Given the description of an element on the screen output the (x, y) to click on. 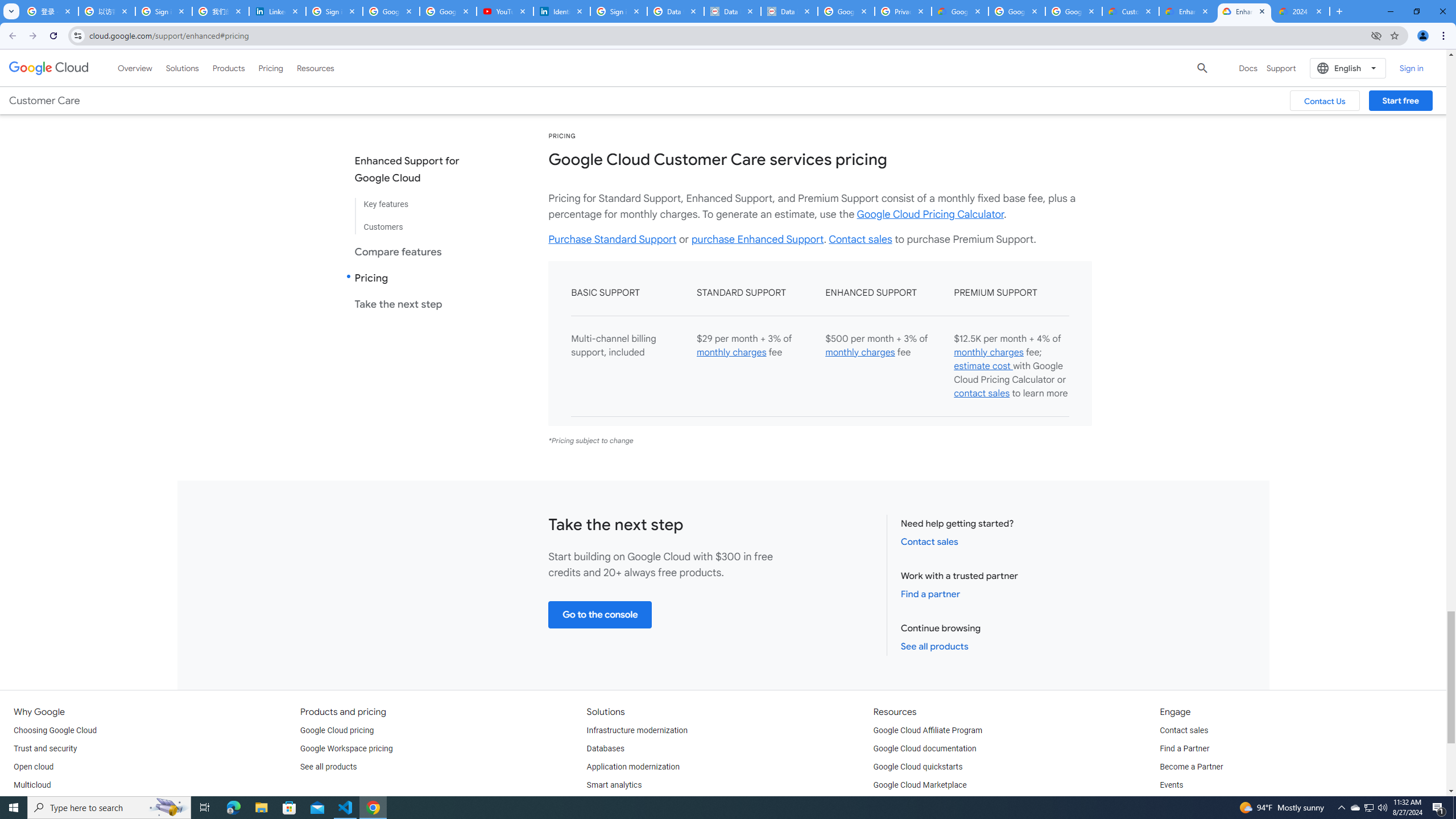
Back (10, 35)
Become a Partner (1190, 766)
Pricing (270, 67)
Find a Partner (1183, 748)
Take the next step (416, 303)
LinkedIn Privacy Policy (277, 11)
New Tab (1338, 11)
You (1422, 35)
Podcasts (1175, 802)
Google Cloud Marketplace (919, 784)
Media CDN (992, 66)
Identity verification via Persona | LinkedIn Help (561, 11)
Google Cloud documentation (924, 748)
